Given the description of an element on the screen output the (x, y) to click on. 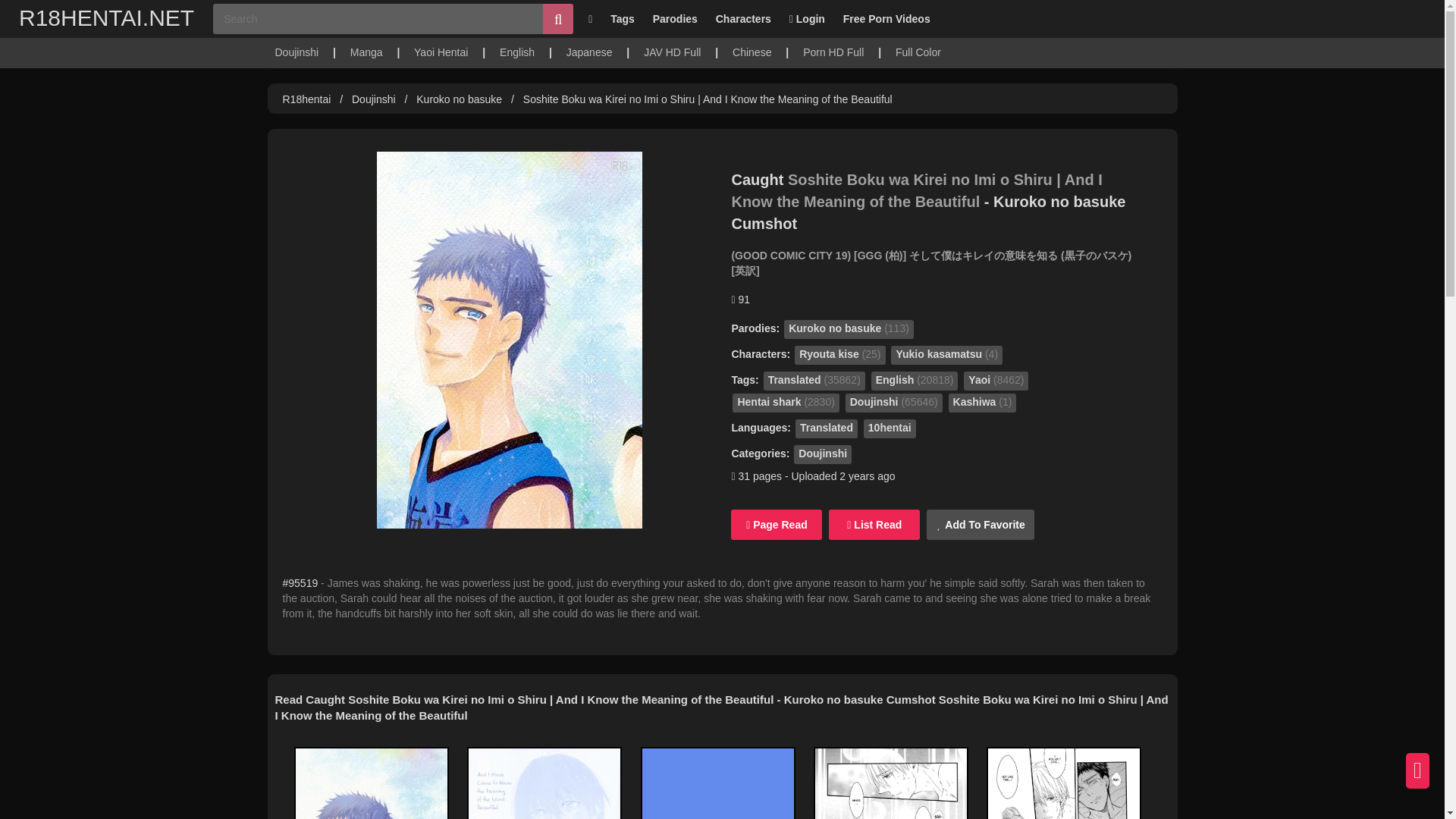
Porn HD Full (833, 51)
English (516, 51)
Characters (742, 18)
Yaoi Hentai (440, 51)
Doujinshi (296, 51)
Japanese  (589, 51)
Doujinshi (374, 99)
Manga (366, 51)
Porn HD Full (833, 51)
Parodies (674, 18)
10hentai (889, 428)
R18hentai (306, 99)
Full Color (917, 51)
Login (806, 18)
Japanese (589, 51)
